Given the description of an element on the screen output the (x, y) to click on. 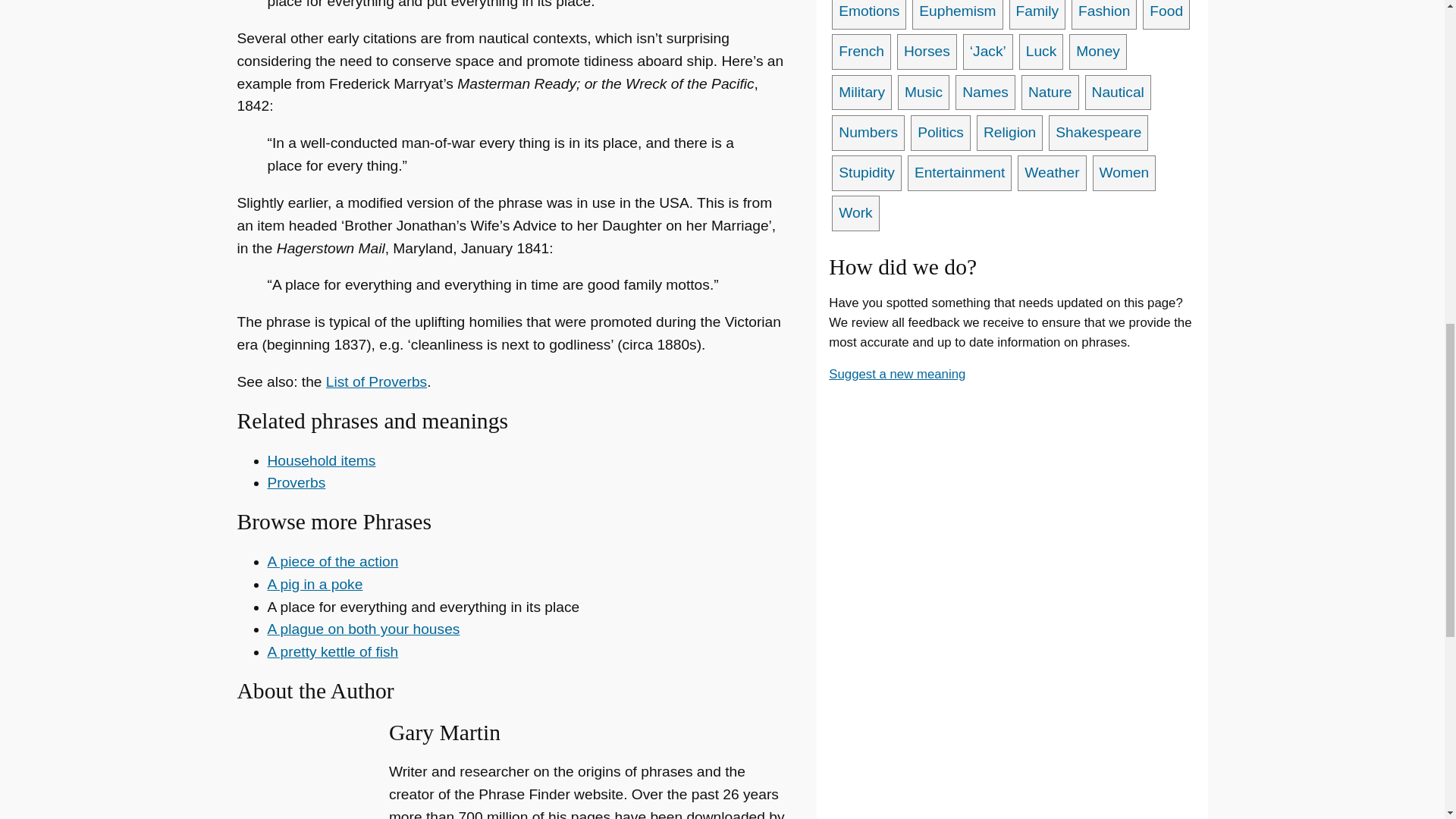
A pig in a poke (314, 584)
Household items (320, 460)
Household items (320, 460)
Proverbs (295, 482)
Proverbs (295, 482)
List of Proverbs (376, 381)
A piece of the action (331, 561)
A pig in a poke (314, 584)
A plague on both your houses (363, 628)
A pretty kettle of fish (331, 651)
